Given the description of an element on the screen output the (x, y) to click on. 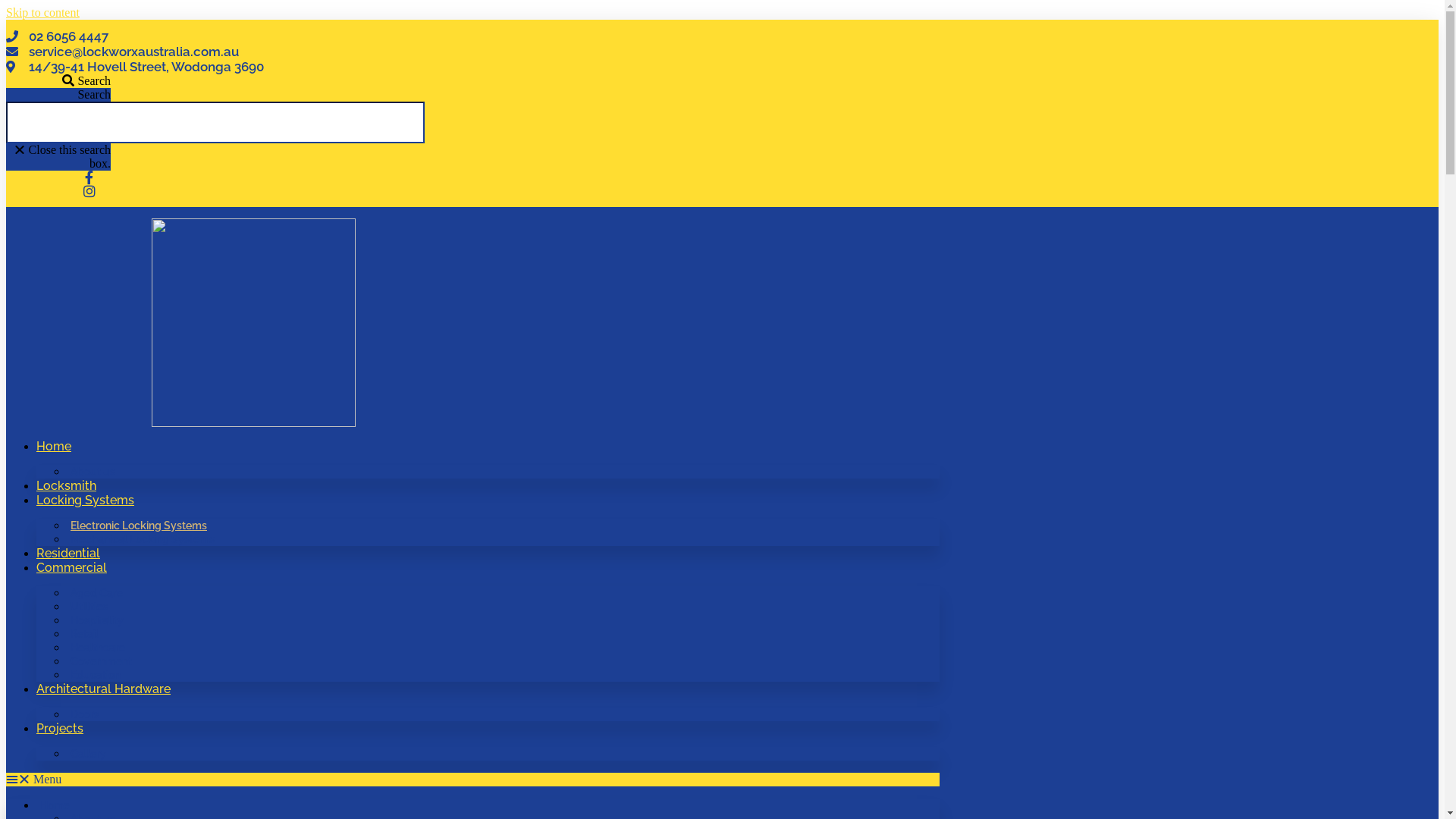
02 6056 4447 Element type: text (360, 35)
Mechanical Locking Systems Element type: text (142, 539)
Hospitality Element type: text (96, 620)
Locksmith Element type: text (66, 485)
Electronic Locking Systems Element type: text (138, 525)
Skip to content Element type: text (42, 12)
Gallery Element type: text (87, 753)
Architectural Hardware Element type: text (103, 688)
About us Element type: text (92, 471)
Government Element type: text (100, 661)
service@lockworxaustralia.com.au Element type: text (360, 51)
Retail Element type: text (84, 633)
Education Element type: text (95, 674)
Locking Systems Element type: text (85, 499)
Home Element type: text (54, 805)
Healthcare Element type: text (97, 647)
Commercial Element type: text (71, 567)
Projects Element type: text (59, 728)
Doors Element type: text (84, 714)
Residential Element type: text (68, 553)
Utilities Element type: text (88, 606)
Home Element type: text (53, 446)
Aged Care Element type: text (96, 592)
